Given the description of an element on the screen output the (x, y) to click on. 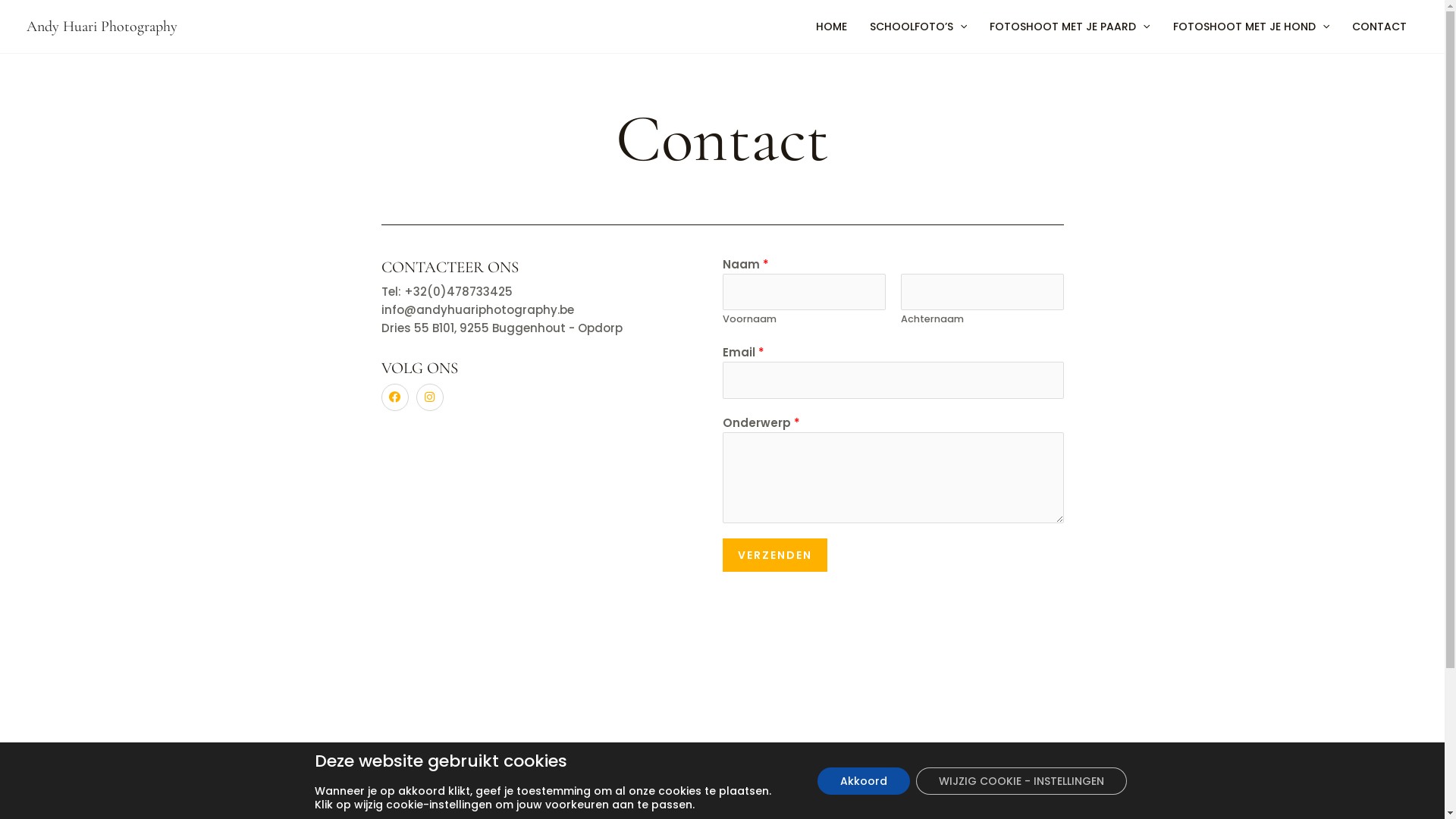
FOTOSHOOT MET JE PAARD Element type: text (1069, 26)
FOTOSHOOT MET JE HOND Element type: text (1250, 26)
Andy Huari Photography Element type: text (101, 26)
WIJZIG COOKIE - INSTELLINGEN Element type: text (1021, 780)
Instagram Element type: text (428, 397)
Akkoord Element type: text (863, 780)
VERZENDEN Element type: text (773, 554)
Facebook Element type: text (393, 397)
CONTACT Element type: text (1379, 26)
HOME Element type: text (831, 26)
